Given the description of an element on the screen output the (x, y) to click on. 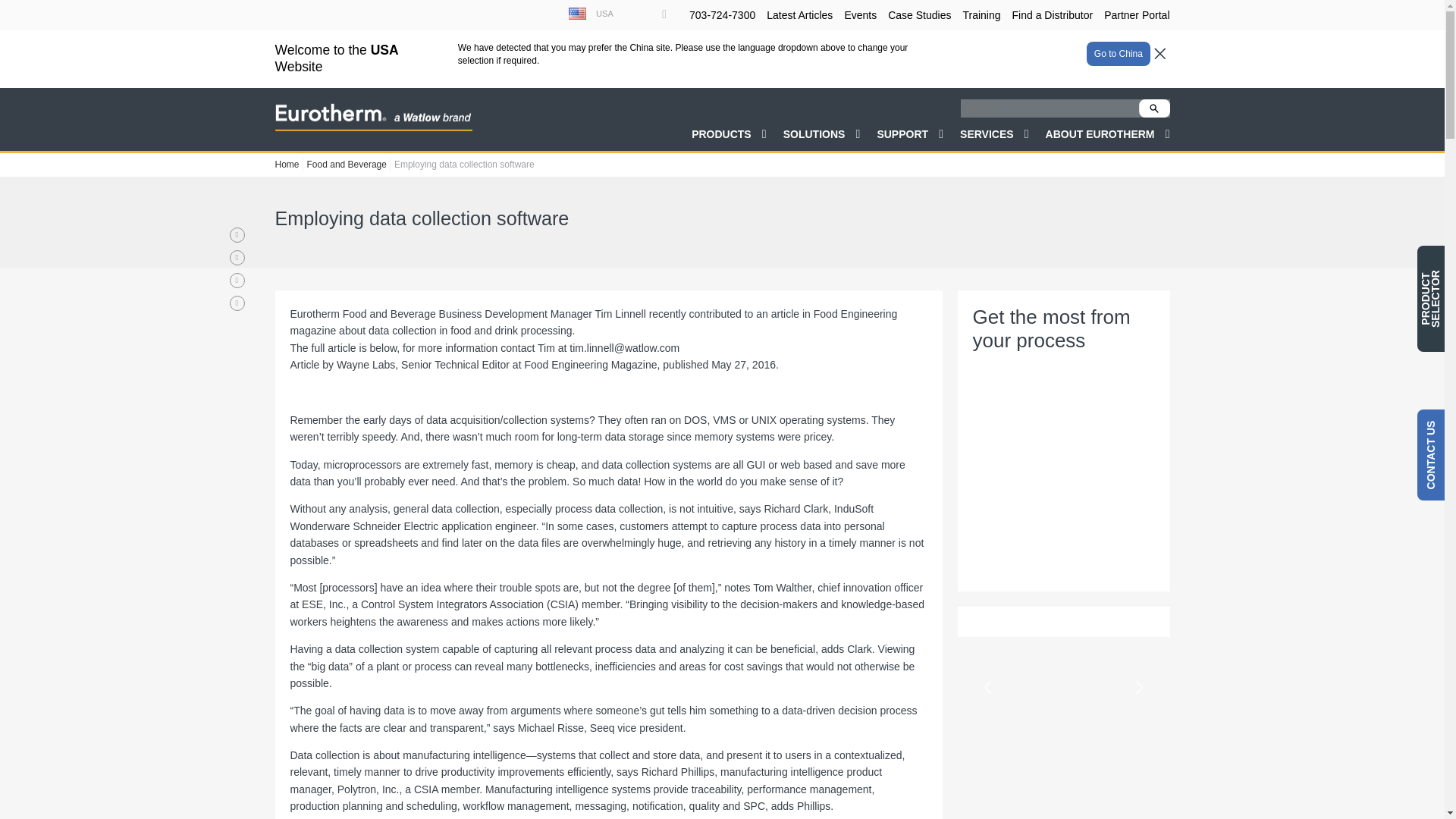
Case Studies (919, 15)
Search for: (1064, 50)
703-724-7300 (721, 15)
Training (981, 15)
Events (860, 15)
PRODUCTS (729, 80)
Latest Articles (799, 15)
Find a Distributor (1052, 15)
Partner Portal (1136, 15)
